Given the description of an element on the screen output the (x, y) to click on. 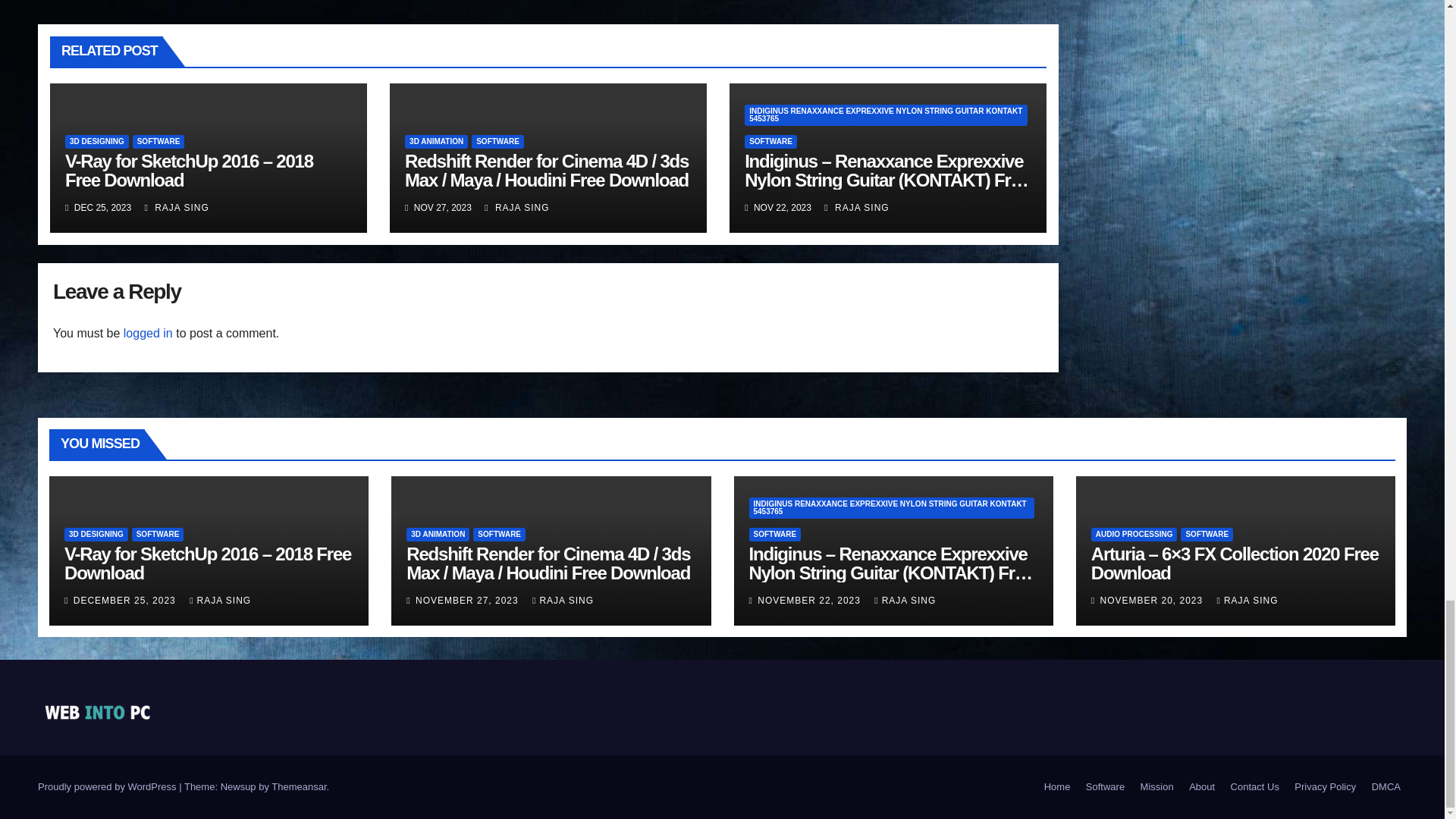
SOFTWARE (158, 141)
RAJA SING (176, 207)
RAJA SING (516, 207)
3D DESIGNING (97, 141)
Home (1057, 786)
SOFTWARE (497, 141)
3D ANIMATION (435, 141)
RAJA SING (856, 207)
Software (1105, 786)
